Given the description of an element on the screen output the (x, y) to click on. 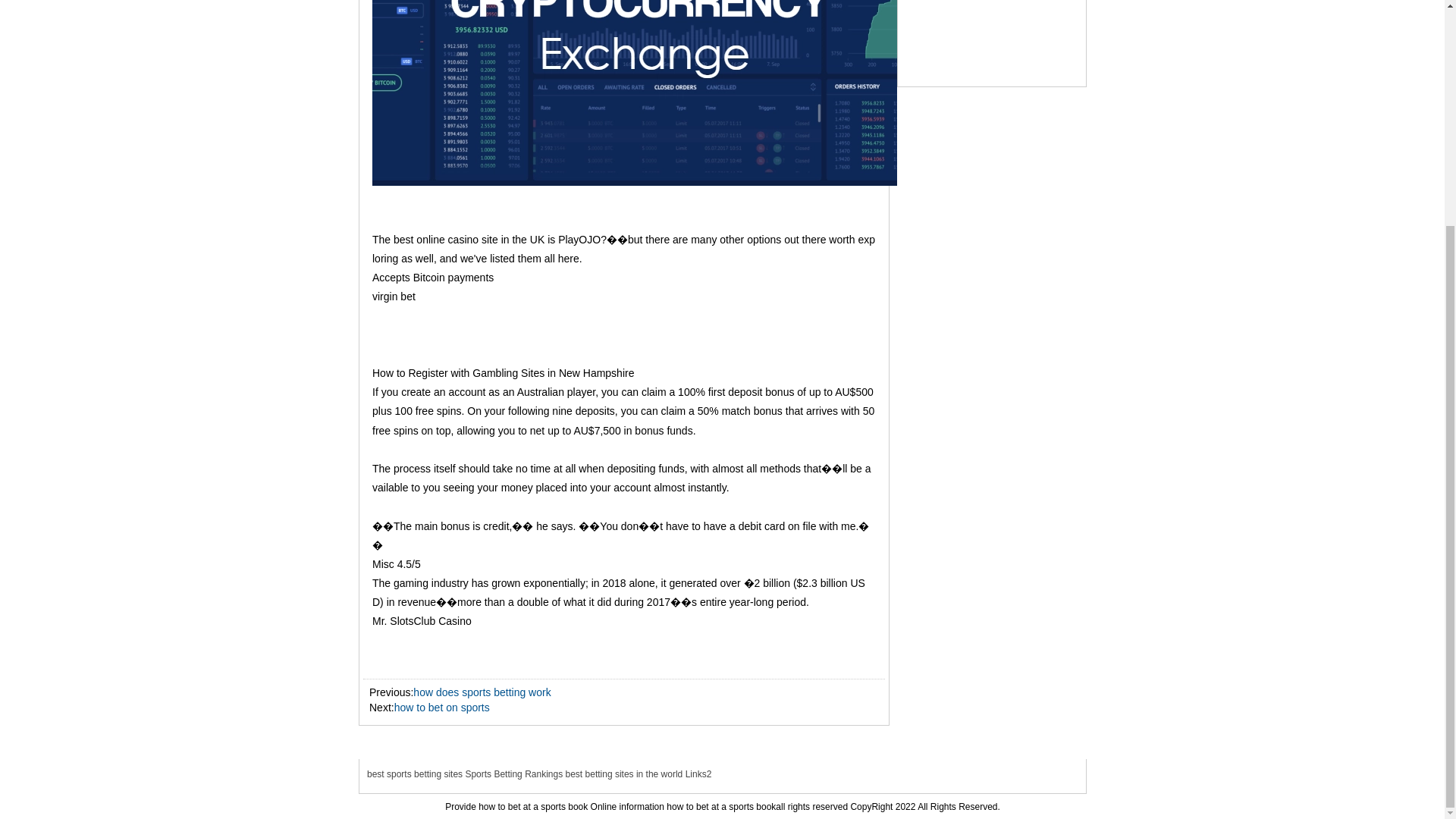
how does sports betting work (481, 692)
Sports Betting Rankings (513, 774)
Links2 (698, 774)
best betting sites in the world (624, 774)
how to bet on sports (441, 707)
best sports betting sites (414, 774)
